Given the description of an element on the screen output the (x, y) to click on. 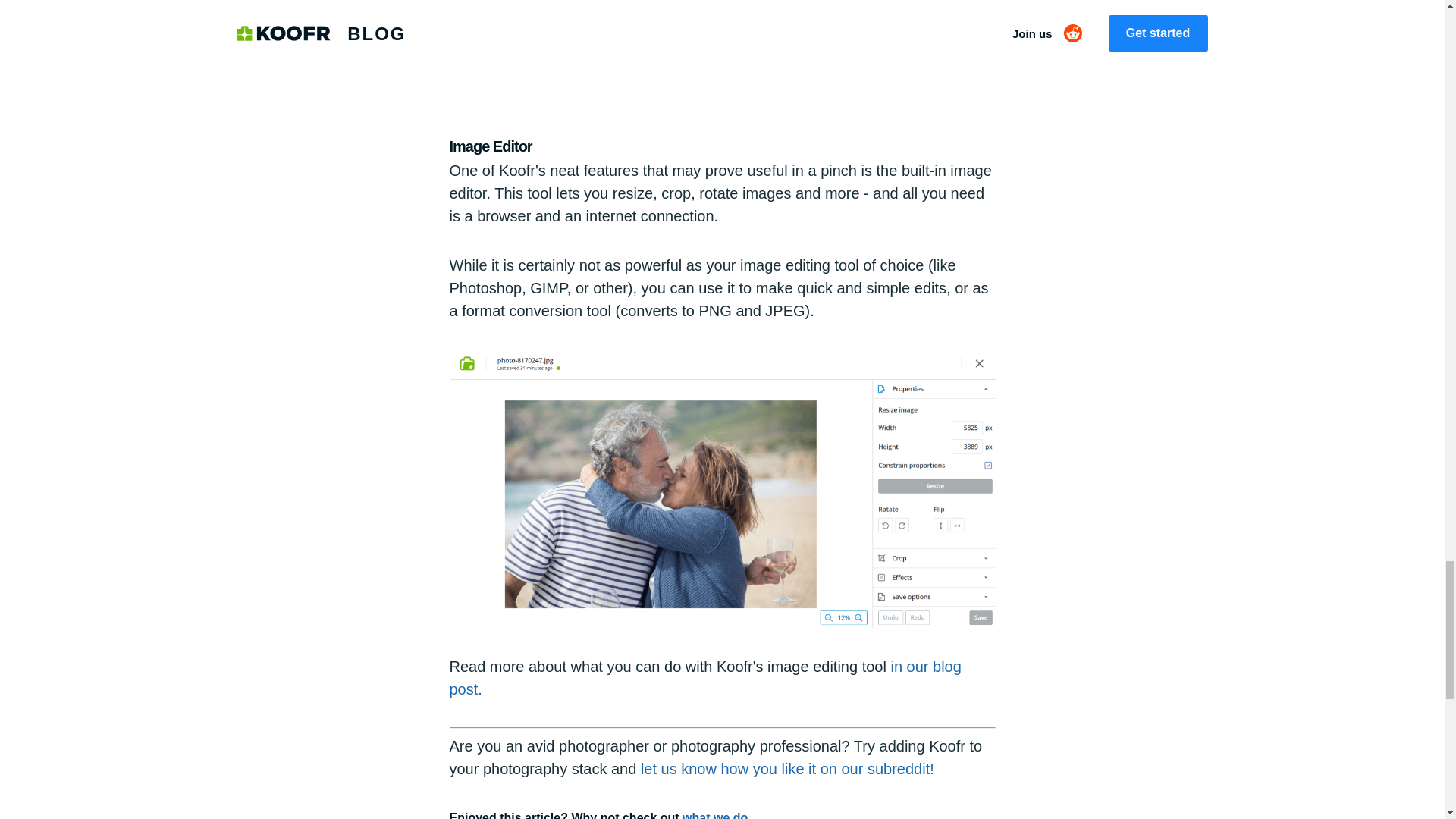
what we do (715, 815)
in our blog post. (704, 677)
let us know how you like it on our subreddit! (787, 768)
